Given the description of an element on the screen output the (x, y) to click on. 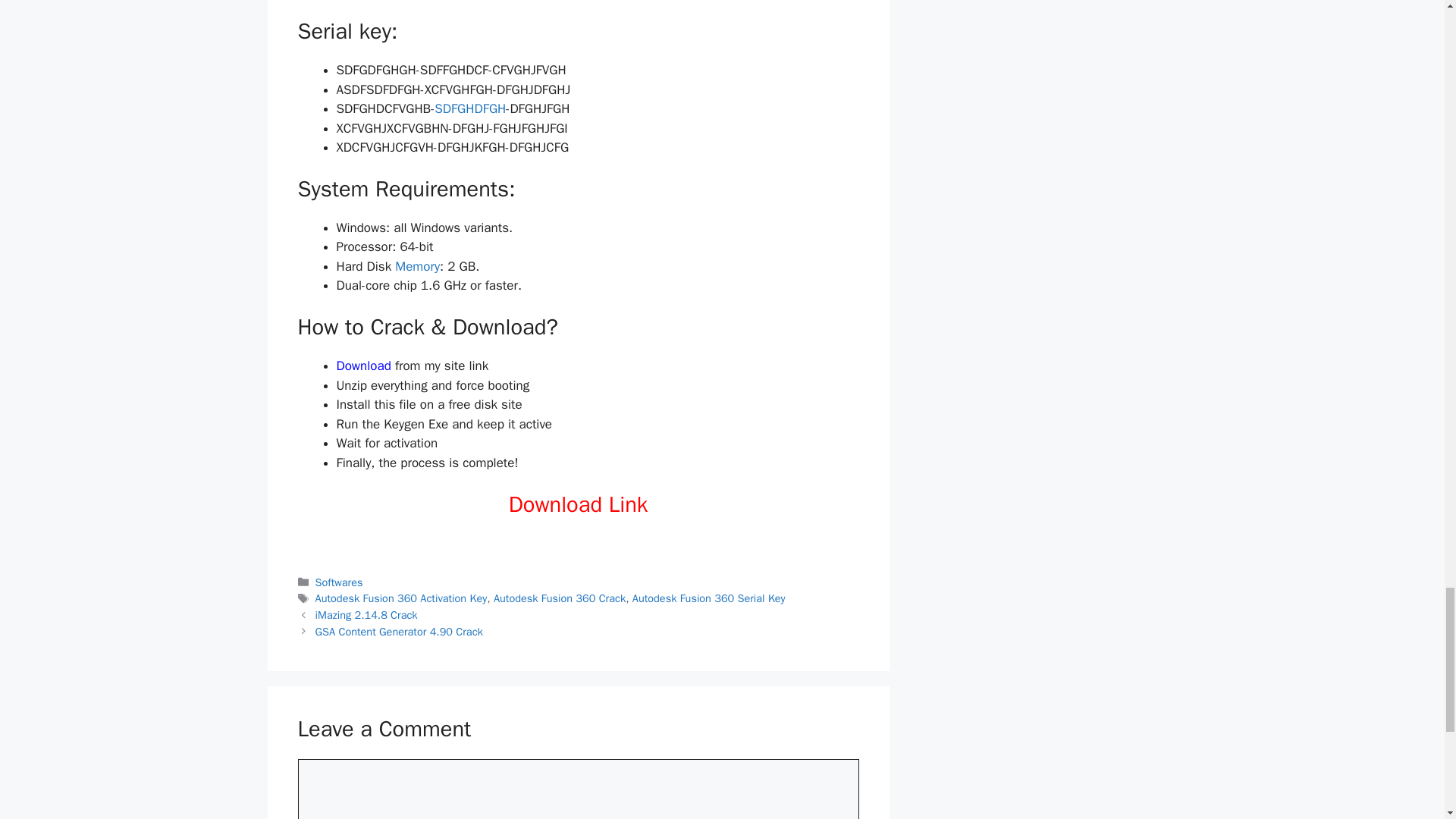
Autodesk Fusion 360 Activation Key (401, 598)
SDFGHDFGH (469, 108)
Next (399, 631)
Download (365, 365)
Softwares (338, 581)
Memory (416, 266)
Download Link (577, 504)
Previous (366, 614)
